Given the description of an element on the screen output the (x, y) to click on. 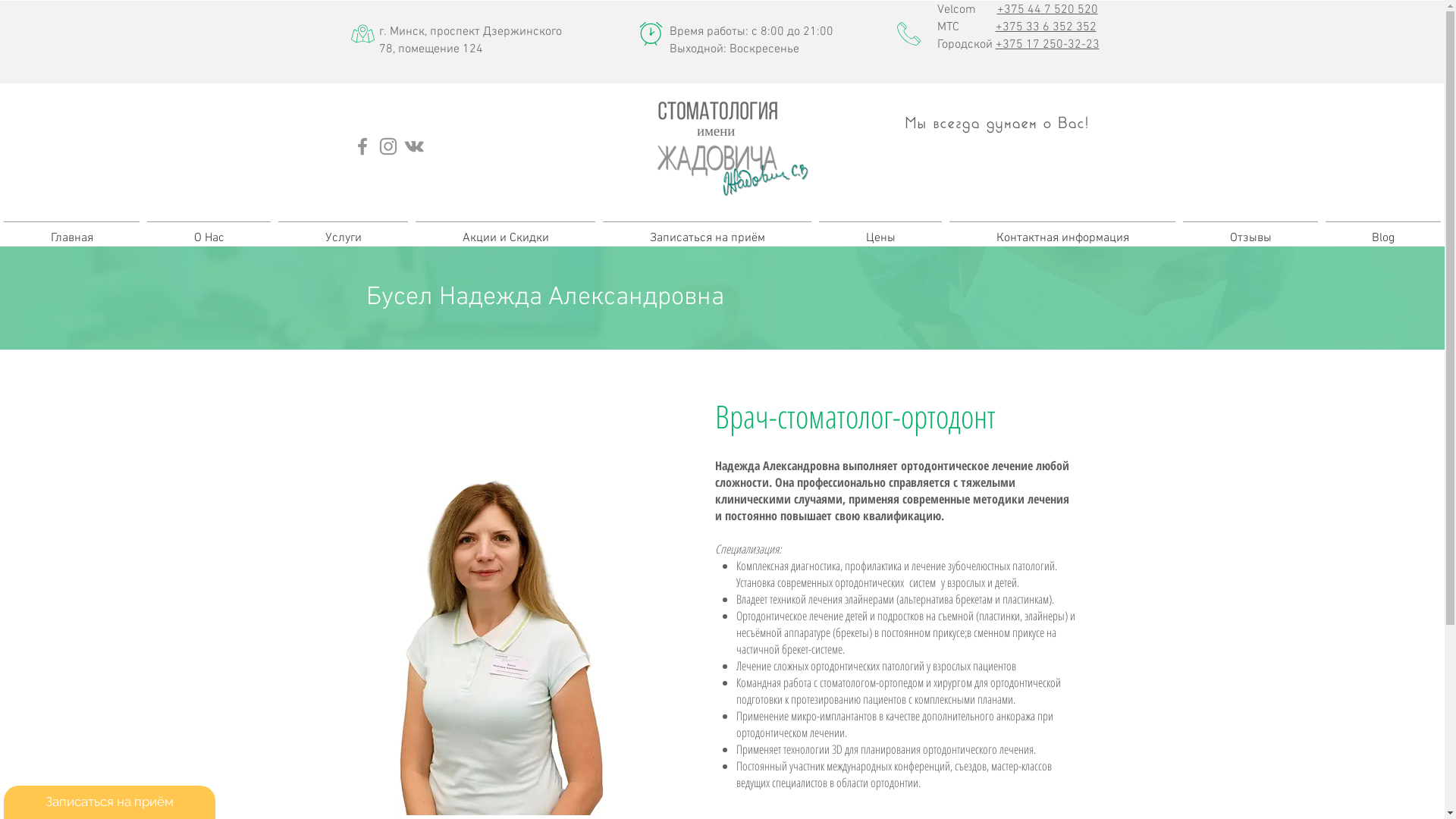
+375 17 250-32-23 Element type: text (1046, 44)
 44 7 520 520 Element type: text (1060, 9)
+375 33 6 352 352 Element type: text (1044, 26)
Blog Element type: text (1382, 231)
